Given the description of an element on the screen output the (x, y) to click on. 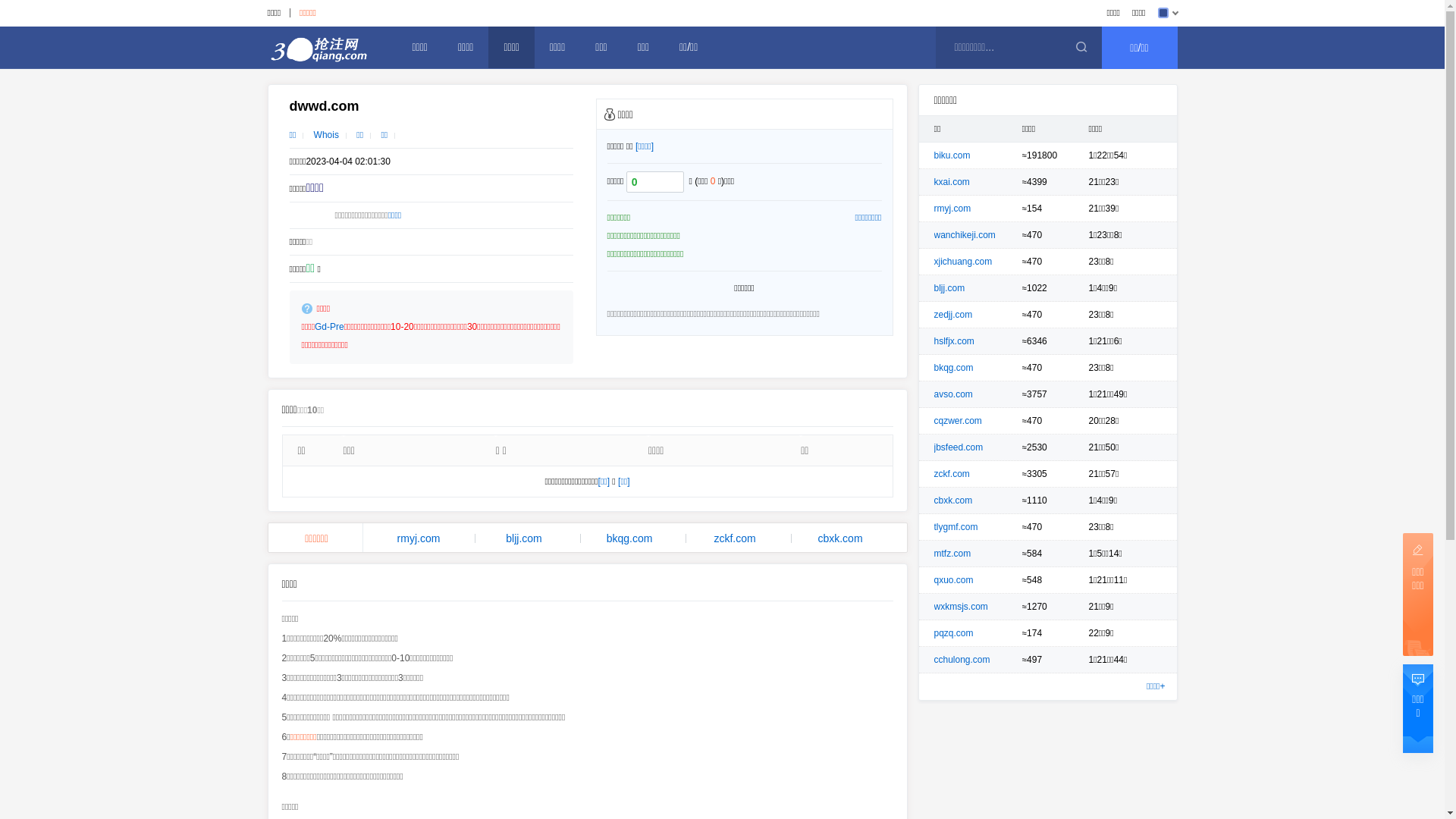
zckf.com Element type: text (734, 538)
bljj.com Element type: text (524, 538)
zckf.com Element type: text (951, 473)
cbxk.com Element type: text (953, 500)
bkqg.com Element type: text (628, 538)
hslfjx.com Element type: text (954, 340)
avso.com Element type: text (953, 394)
jbsfeed.com Element type: text (958, 447)
kxai.com Element type: text (951, 181)
mtfz.com Element type: text (952, 553)
wxkmsjs.com Element type: text (961, 606)
biku.com Element type: text (952, 155)
bljj.com Element type: text (949, 287)
Whois Element type: text (326, 134)
rmyj.com Element type: text (417, 538)
qxuo.com Element type: text (953, 579)
xjichuang.com Element type: text (963, 261)
zedjj.com Element type: text (953, 314)
cchulong.com Element type: text (962, 659)
wanchikeji.com Element type: text (964, 234)
pqzq.com Element type: text (953, 632)
Gd-Pre Element type: text (329, 326)
tlygmf.com Element type: text (956, 526)
bkqg.com Element type: text (953, 367)
cqzwer.com Element type: text (958, 420)
cbxk.com Element type: text (839, 538)
rmyj.com Element type: text (952, 208)
